Given the description of an element on the screen output the (x, y) to click on. 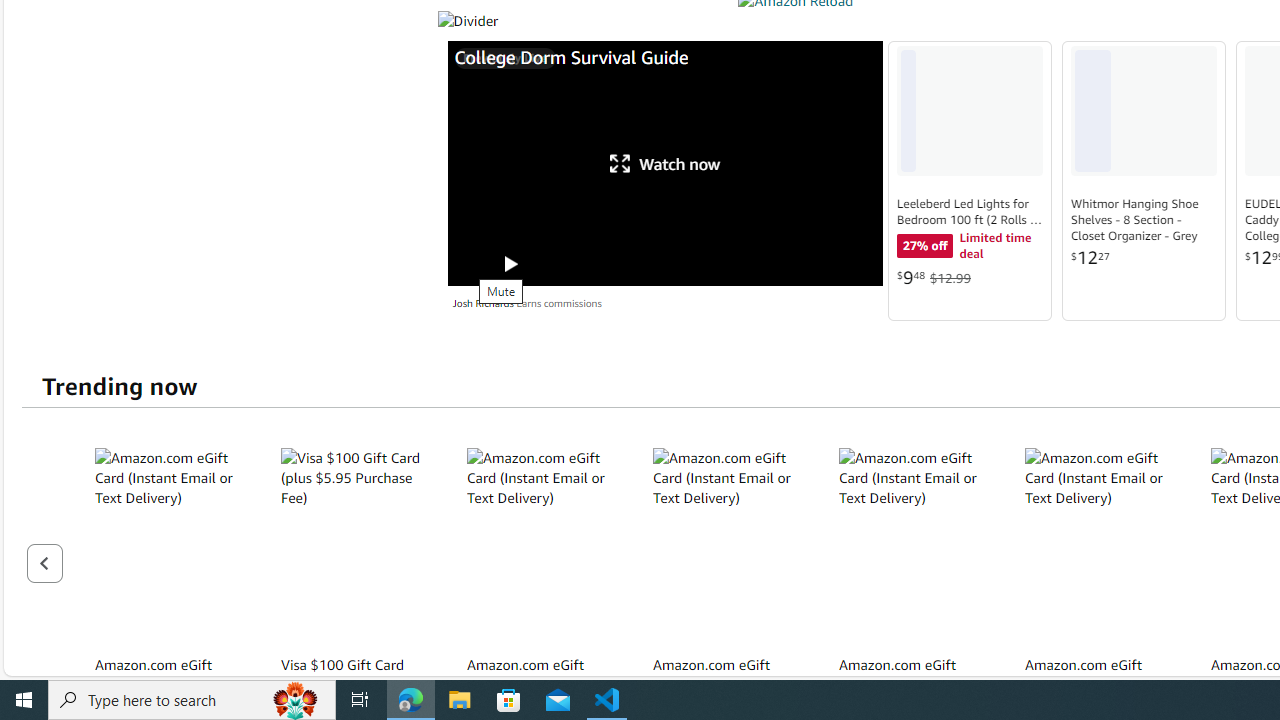
Visa $100 Gift Card (plus $5.95 Purchase Fee) (356, 546)
Watch now (665, 163)
Amazon.com eGift Card (Instant Email or Text Delivery) (1100, 546)
Play (509, 264)
Previous page (44, 562)
Earns commissions (558, 303)
Tap Watch now to see broadcast in immersive view (665, 163)
Mute (469, 264)
